Given the description of an element on the screen output the (x, y) to click on. 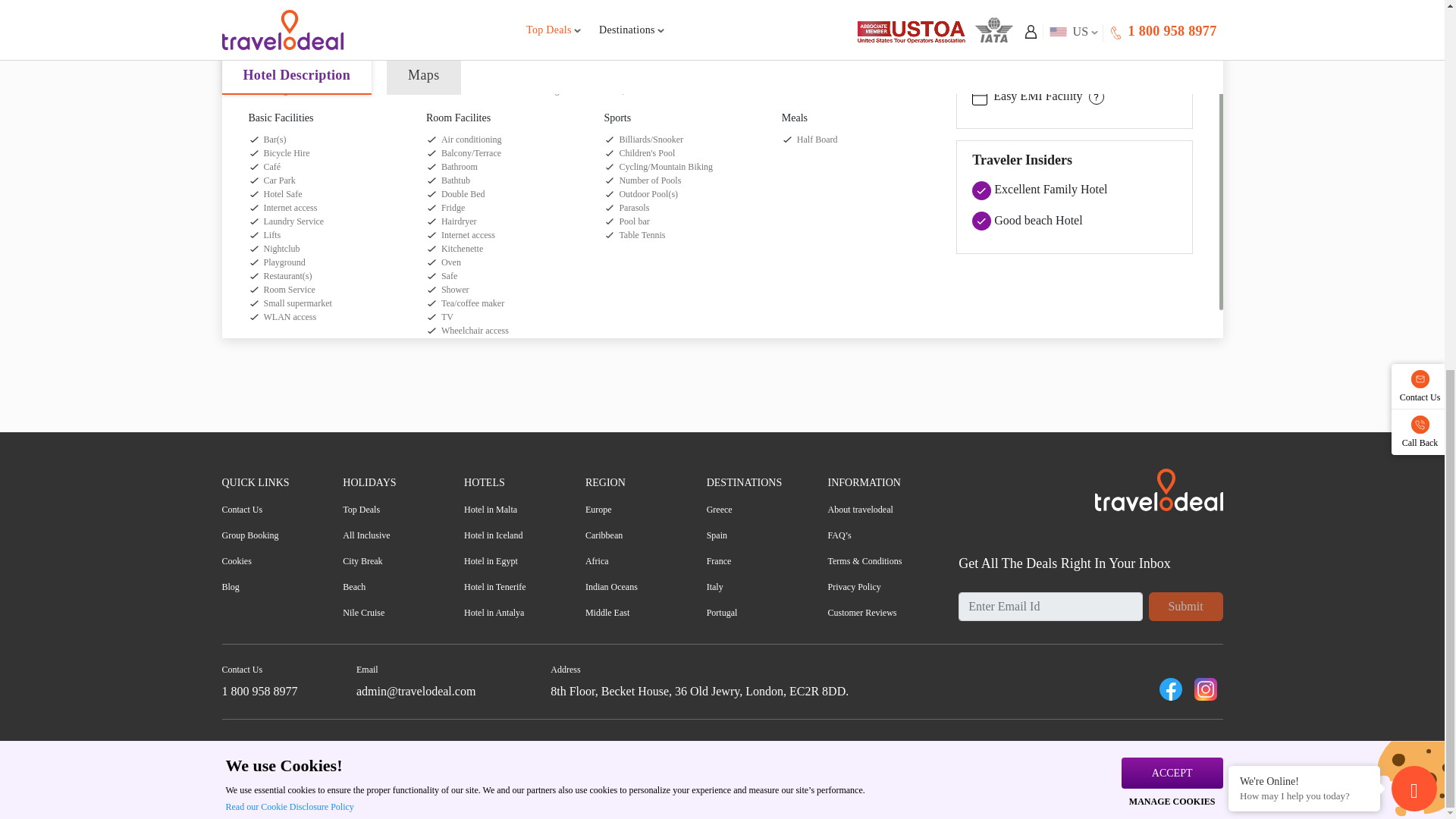
We're Online! (1304, 110)
How may I help you today? (1304, 124)
